Given the description of an element on the screen output the (x, y) to click on. 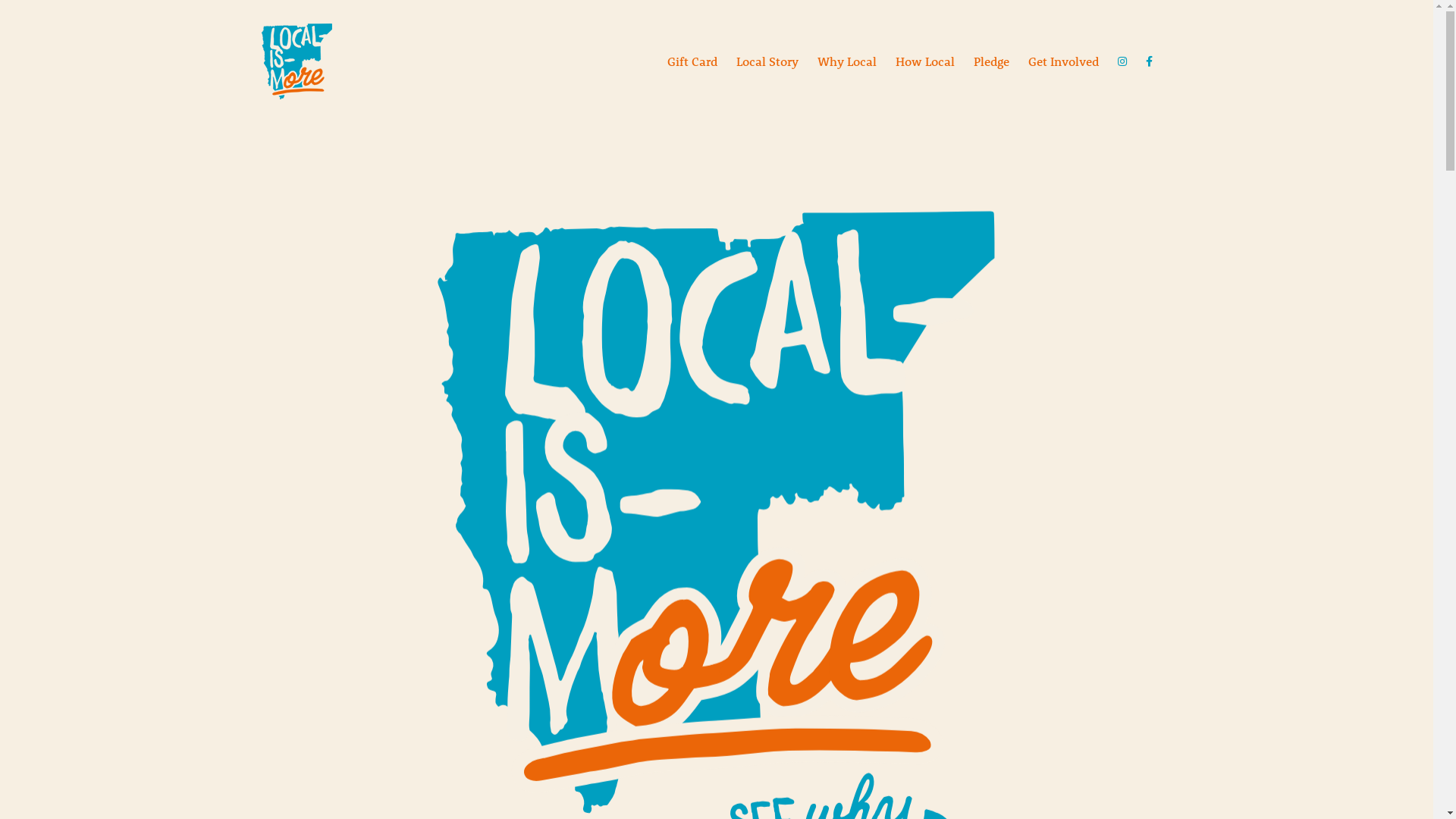
Why Local Element type: text (846, 61)
Pledge Element type: text (991, 61)
How Local Element type: text (924, 61)
Local Story Element type: text (767, 61)
Gift Card Element type: text (692, 61)
Get Involved Element type: text (1063, 61)
